Given the description of an element on the screen output the (x, y) to click on. 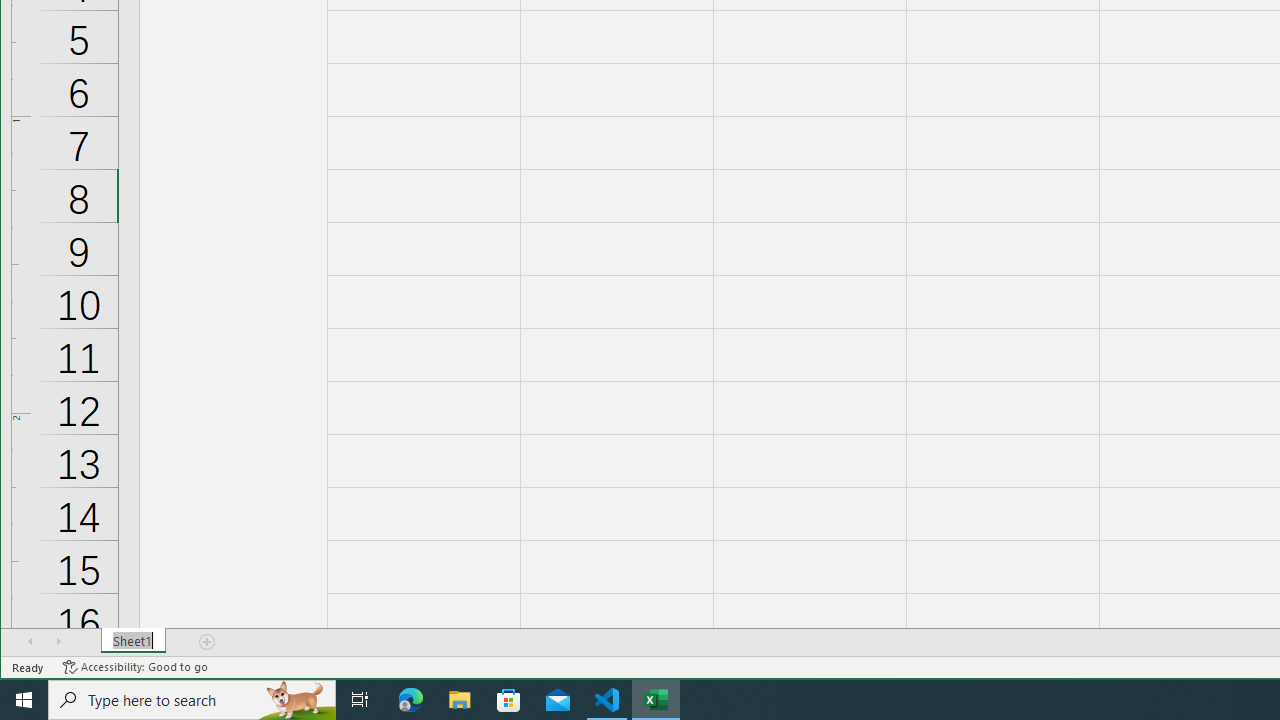
Start (24, 699)
